Given the description of an element on the screen output the (x, y) to click on. 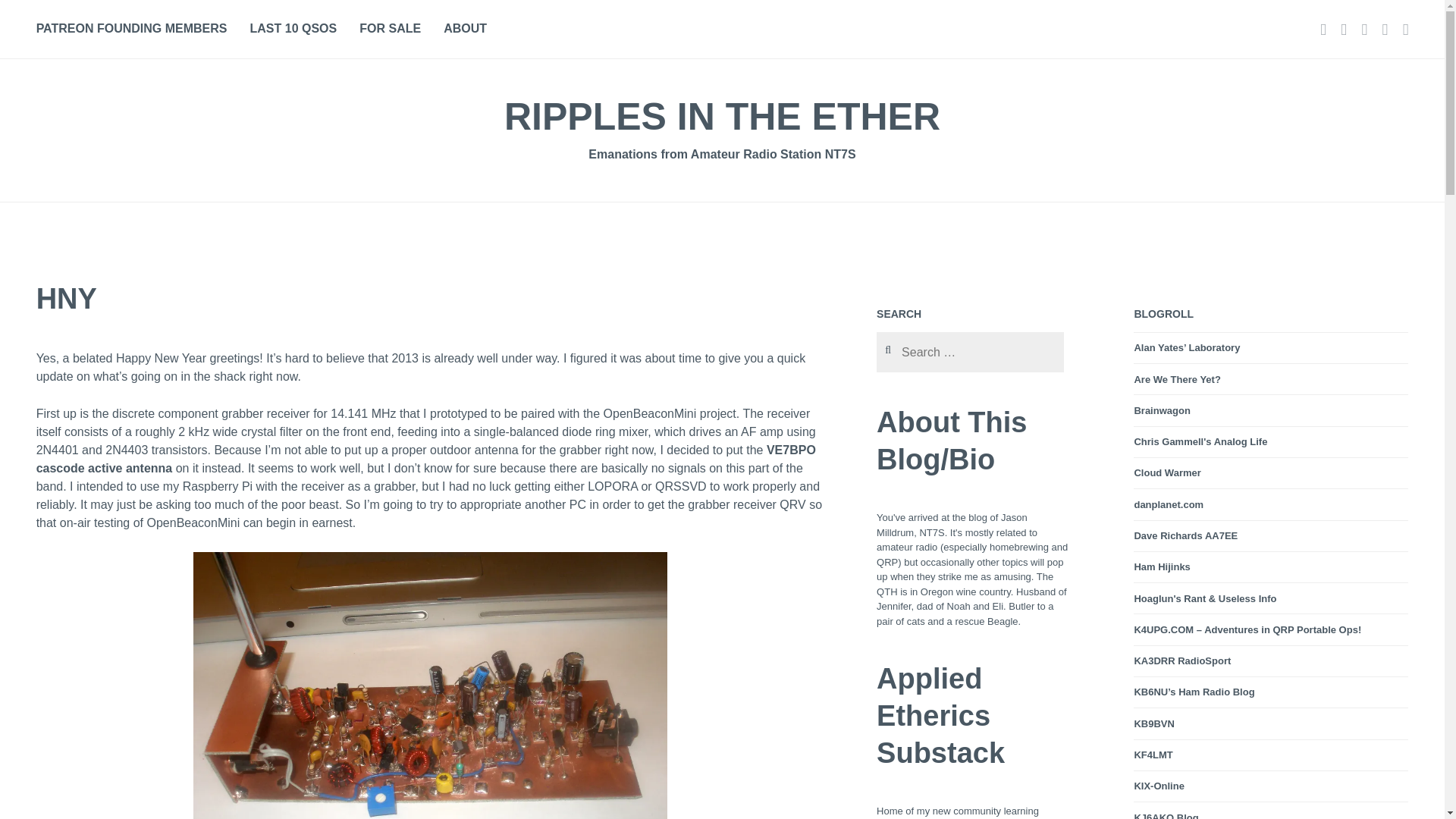
FOR SALE (389, 29)
Analog electronics and everything else between 1 and 0 (1200, 441)
VK2ZAY personal blog (1187, 347)
Search (33, 15)
Personal blog of AA7EE (1185, 535)
Personal blog of KK7DS (1169, 504)
VE7BPO cascode active antenna (425, 459)
Personal blog of KB9BVN (1153, 724)
K6HX Blog (1161, 410)
K4UPG Personal Blog (1247, 630)
